Given the description of an element on the screen output the (x, y) to click on. 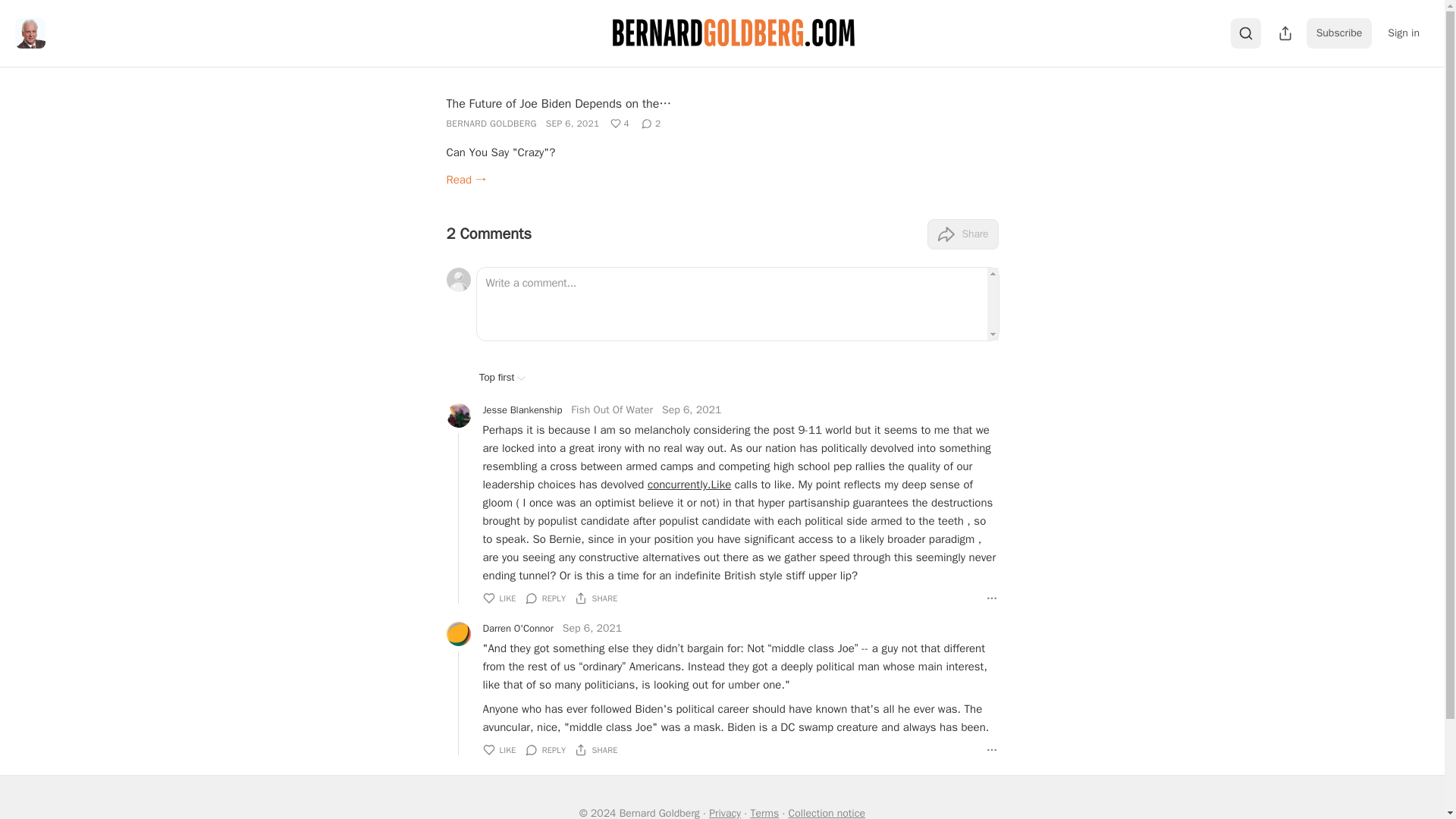
SHARE (596, 598)
LIKE (498, 749)
Darren O'Connor (517, 628)
Share (962, 234)
Subscribe (1339, 33)
LIKE (498, 598)
Sign in (1403, 33)
Sep 6, 2021 (591, 628)
concurrently.Like (688, 484)
2 (651, 123)
4 (619, 123)
2021-09-06T06:03:01.041Z (572, 123)
REPLY (545, 598)
Jesse Blankenship (521, 409)
Sep 6, 2021 (691, 409)
